Given the description of an element on the screen output the (x, y) to click on. 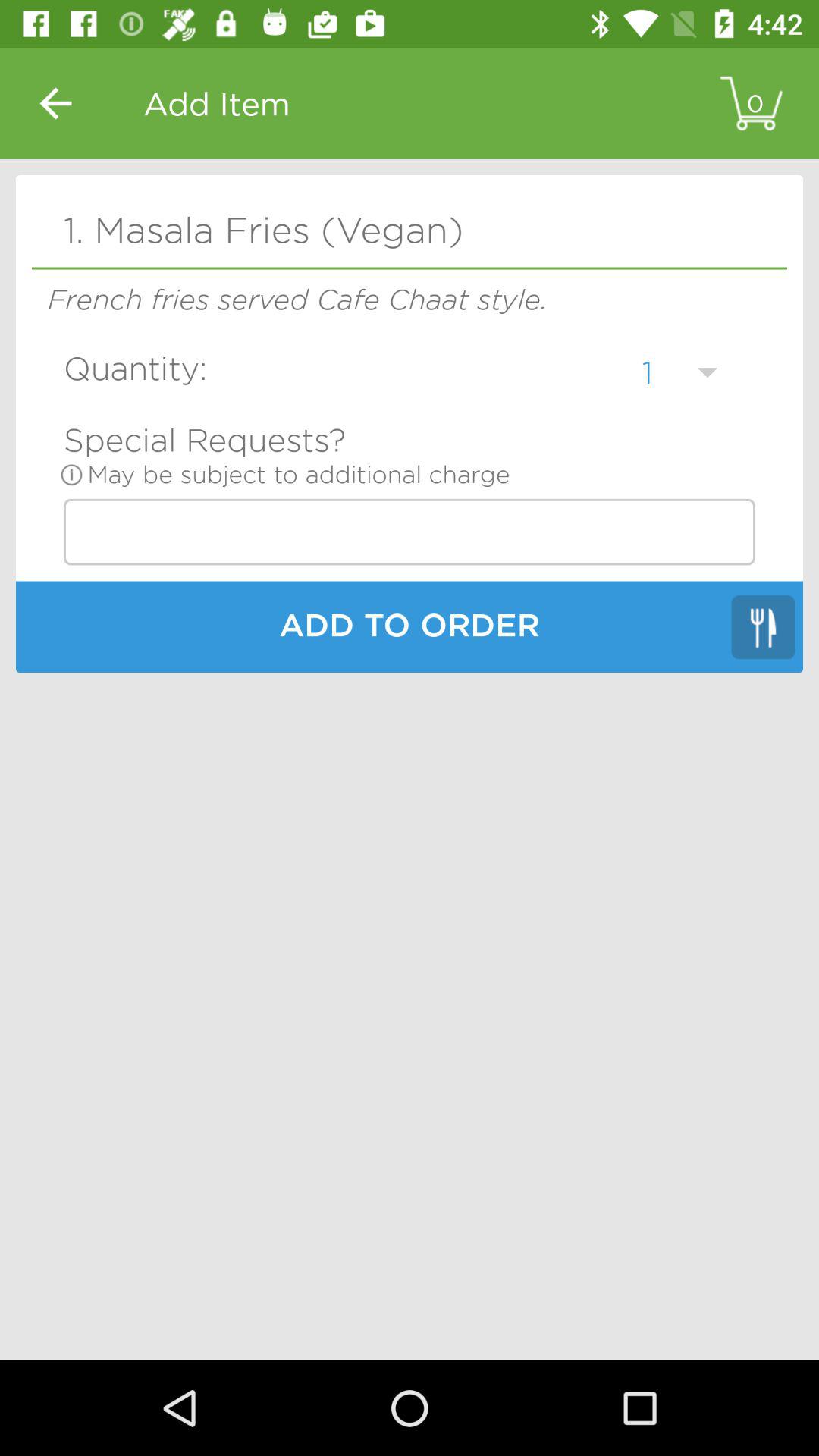
press add to order (409, 628)
